Given the description of an element on the screen output the (x, y) to click on. 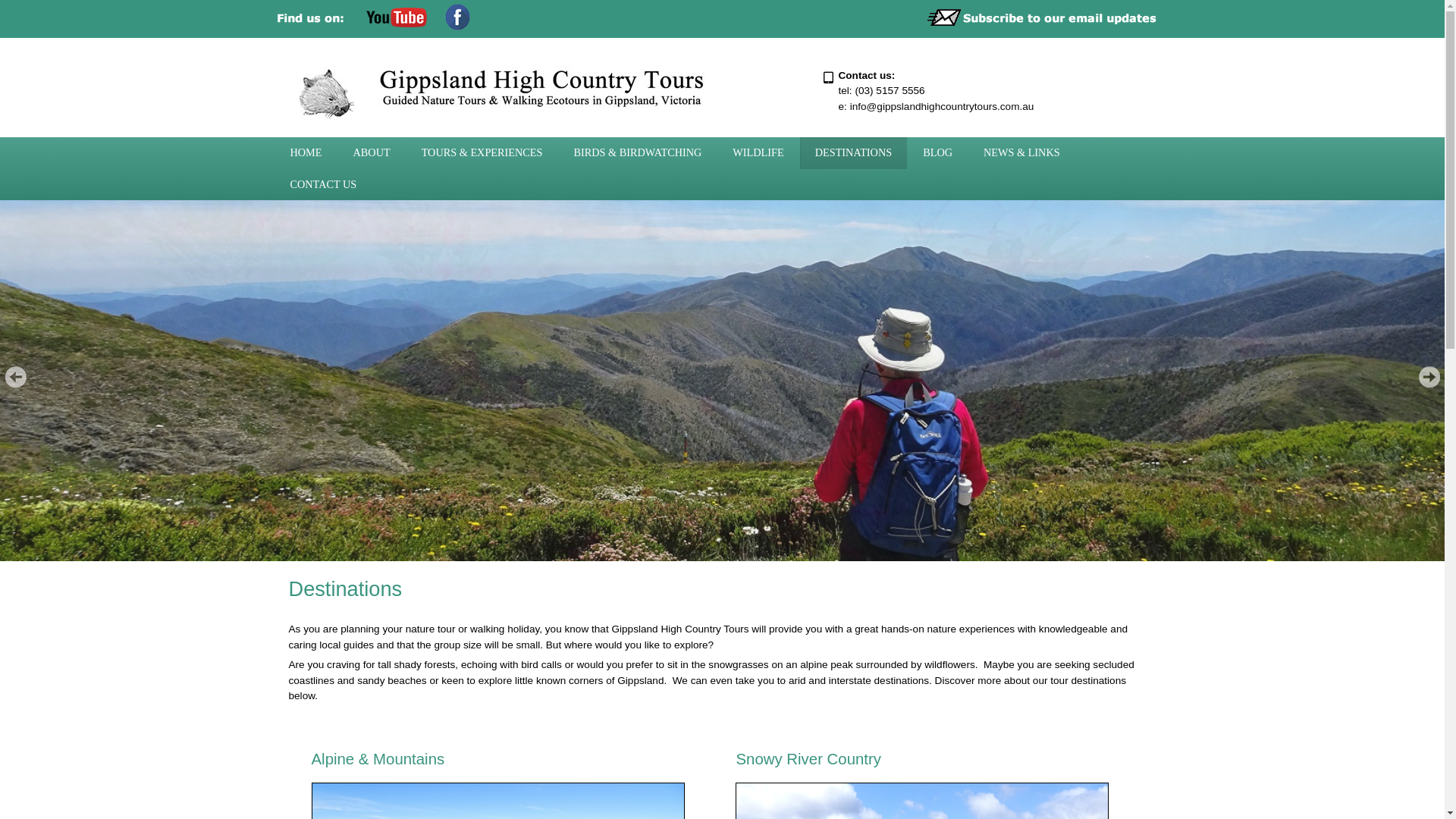
ABOUT Element type: text (371, 152)
BIRDS & BIRDWATCHING Element type: text (637, 152)
TOURS & EXPERIENCES Element type: text (482, 152)
info@gippslandhighcountrytours.com.au Element type: text (942, 106)
WILDLIFE Element type: text (757, 152)
DESTINATIONS Element type: text (853, 152)
> Element type: text (1429, 376)
Snowy River Country Element type: text (808, 758)
BLOG Element type: text (937, 152)
CONTACT US Element type: text (322, 184)
< Element type: text (14, 376)
Alpine & Mountains Element type: text (377, 758)
HOME Element type: text (305, 152)
NEWS & LINKS Element type: text (1021, 152)
